Given the description of an element on the screen output the (x, y) to click on. 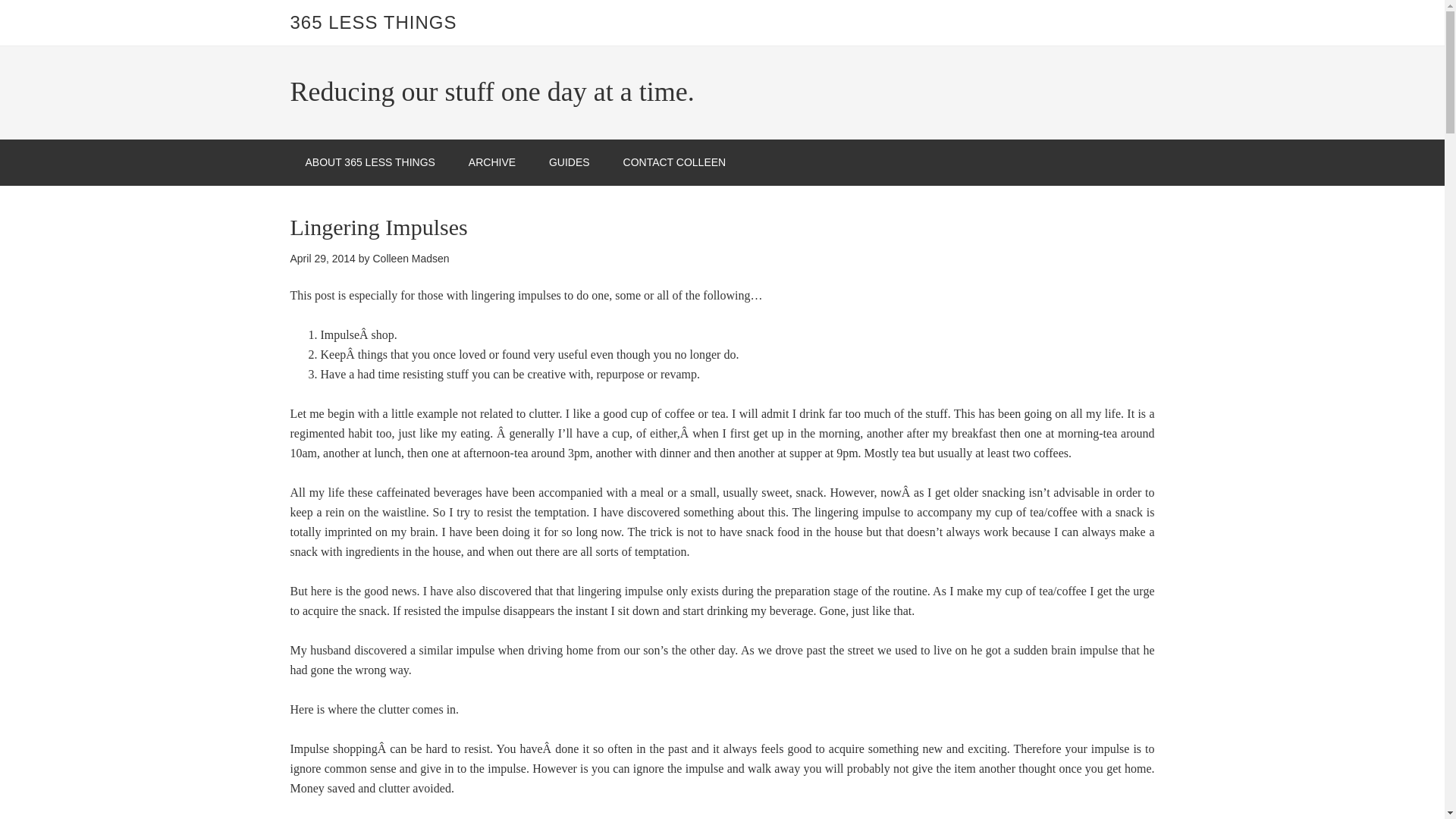
ARCHIVE (491, 162)
ABOUT 365 LESS THINGS (369, 162)
CONTACT COLLEEN (674, 162)
Colleen Madsen (410, 258)
GUIDES (569, 162)
365 LESS THINGS (373, 22)
